Given the description of an element on the screen output the (x, y) to click on. 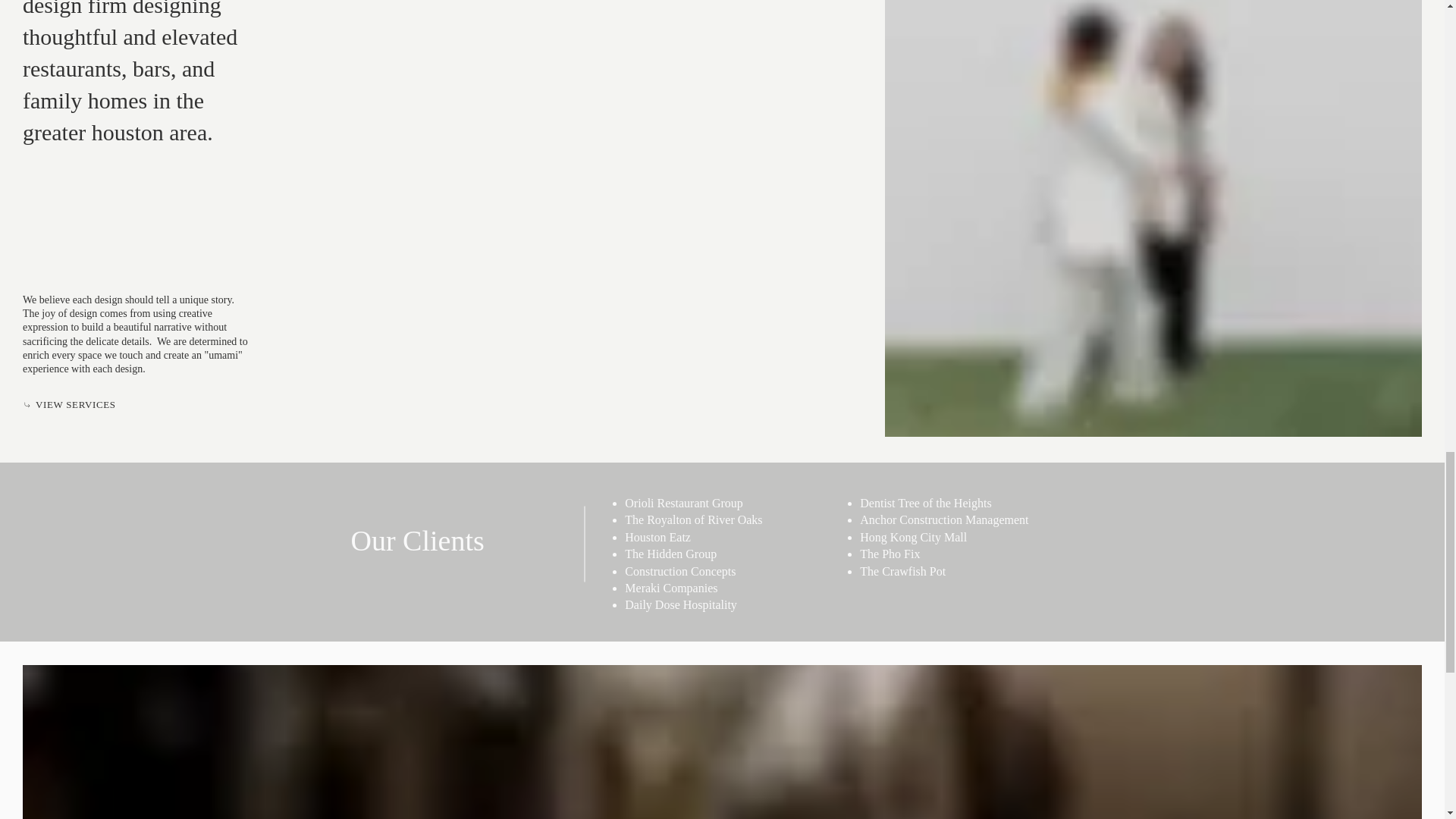
VIEW SERVICES (72, 404)
